Given the description of an element on the screen output the (x, y) to click on. 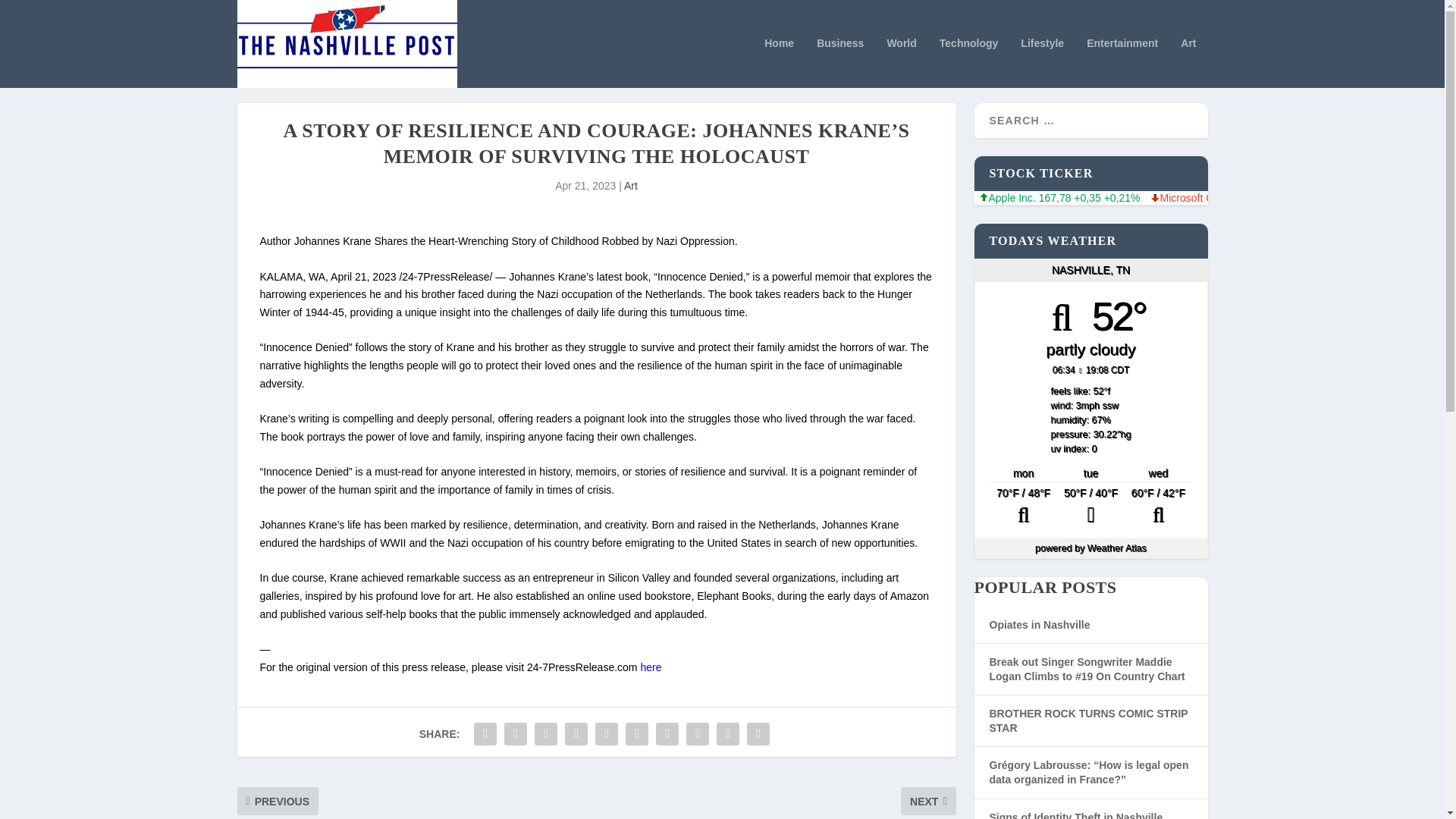
Mostly Cloudy (1023, 506)
here (650, 666)
Search (31, 13)
Art (630, 185)
Technology (968, 61)
Partly Cloudy (1158, 506)
Business (839, 61)
Rain (1090, 506)
Entertainment (1121, 61)
Opiates in Nashville (1038, 624)
